Given the description of an element on the screen output the (x, y) to click on. 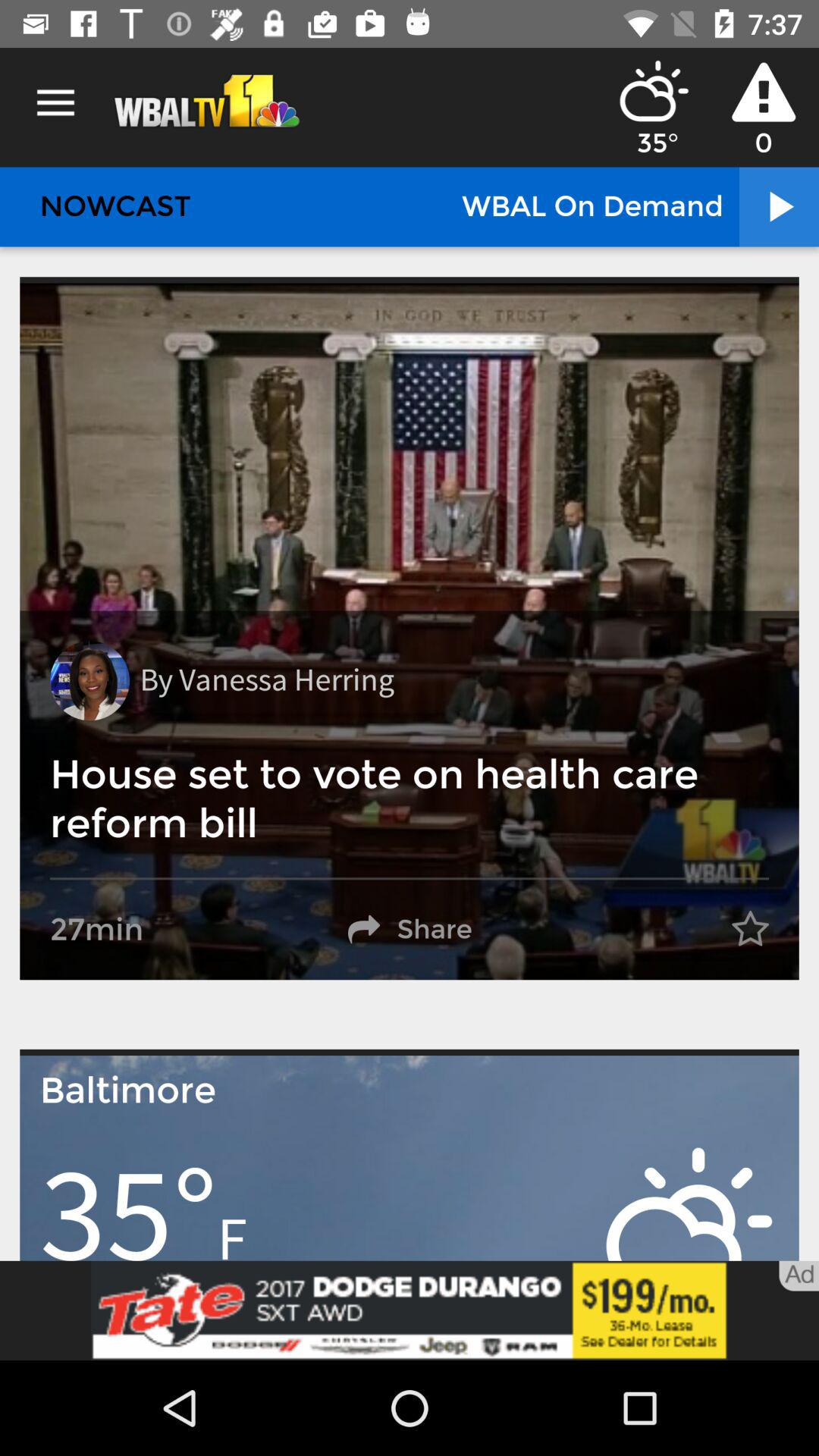
advertising (409, 1310)
